Given the description of an element on the screen output the (x, y) to click on. 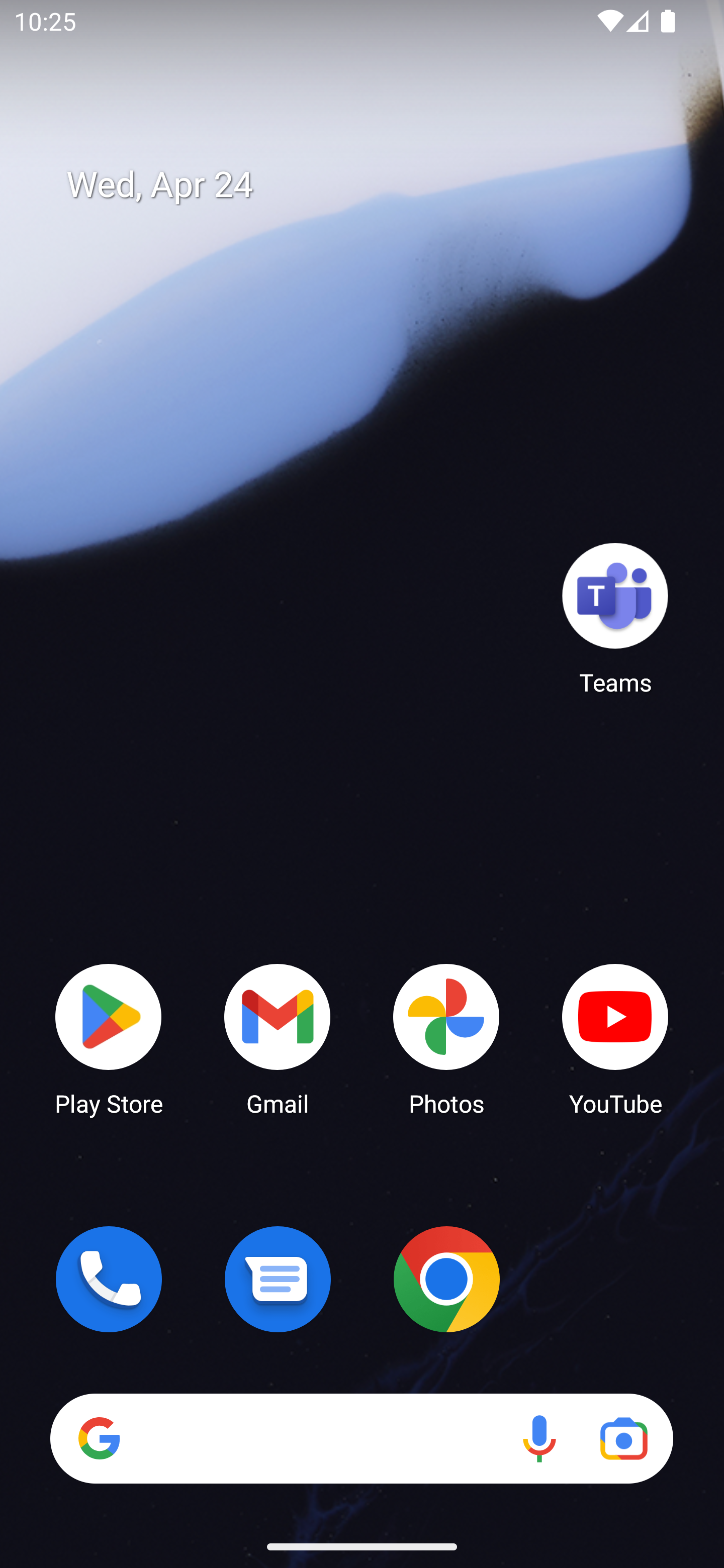
Wed, Apr 24 (375, 184)
Teams (615, 617)
Play Store (108, 1038)
Gmail (277, 1038)
Photos (445, 1038)
YouTube (615, 1038)
Phone (108, 1279)
Messages (277, 1279)
Chrome (446, 1279)
Search Voice search Google Lens (361, 1438)
Voice search (539, 1438)
Google Lens (623, 1438)
